Given the description of an element on the screen output the (x, y) to click on. 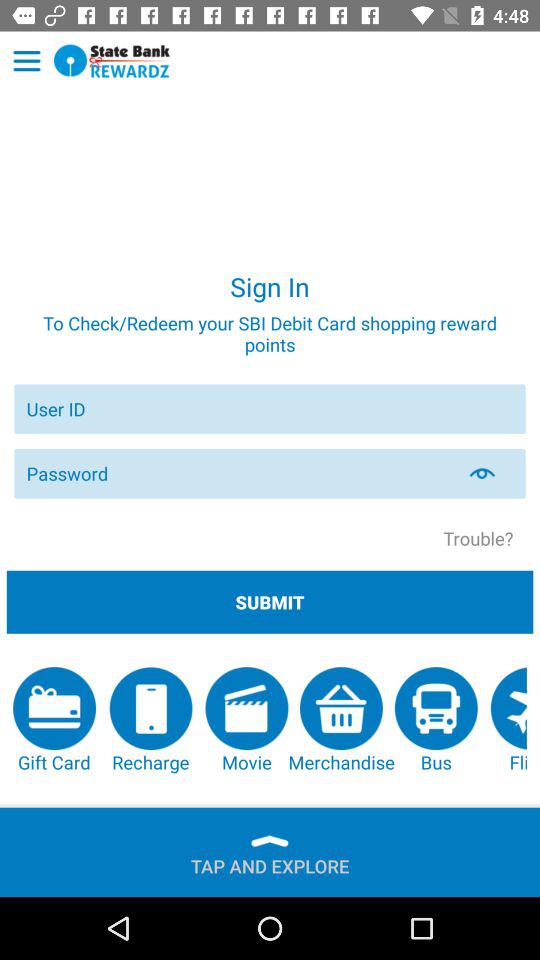
scroll to the movie (246, 720)
